Given the description of an element on the screen output the (x, y) to click on. 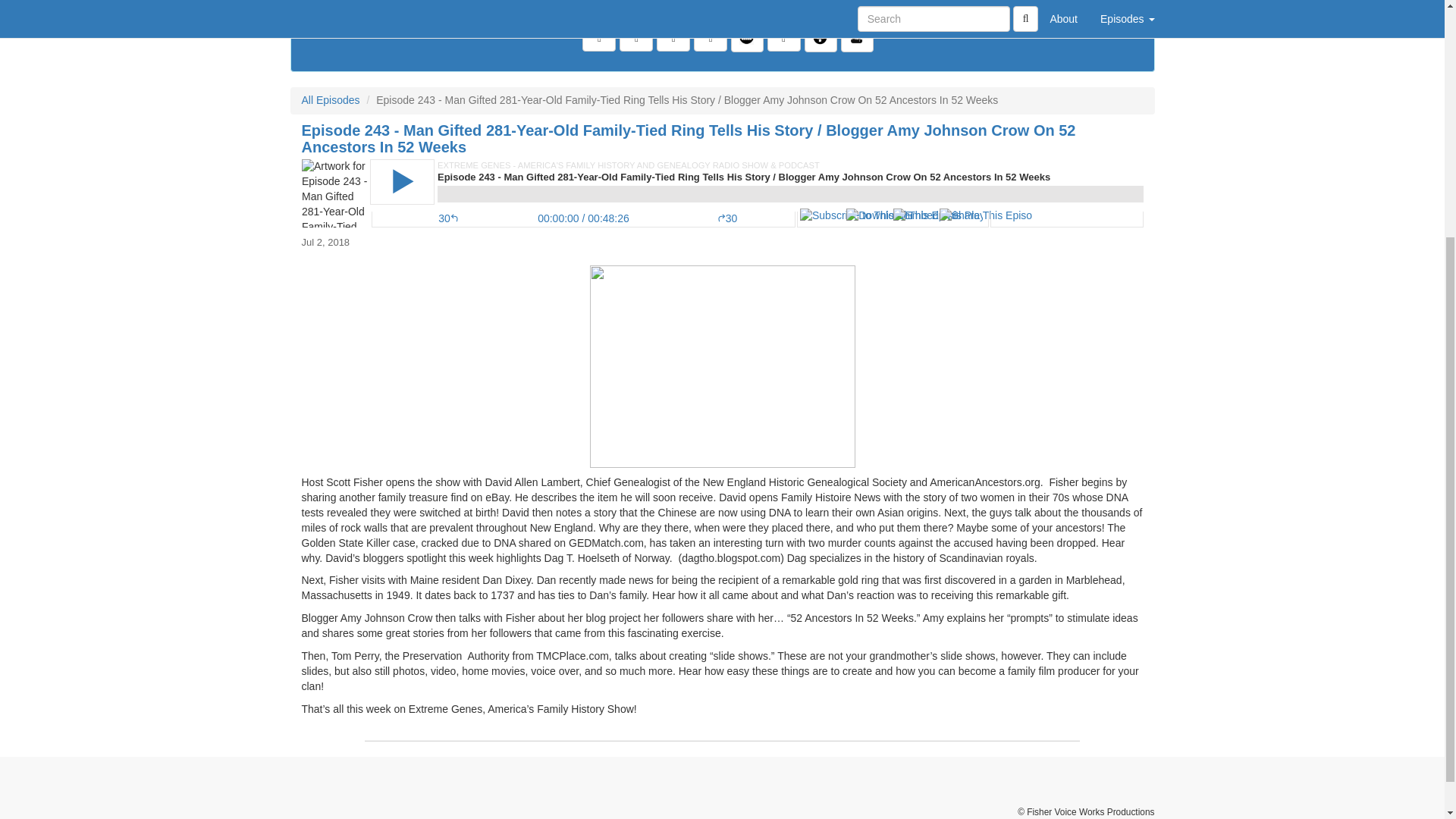
Listen on Stitcher (857, 38)
Listen on Deezer (746, 38)
Listen on Apple Podcasts (783, 38)
Email This Podcast (673, 38)
Subscribe to RSS Feed (710, 38)
Visit Us on Facebook (598, 38)
Visit Us on Twitter (636, 38)
Listen on TuneIn (821, 38)
